Given the description of an element on the screen output the (x, y) to click on. 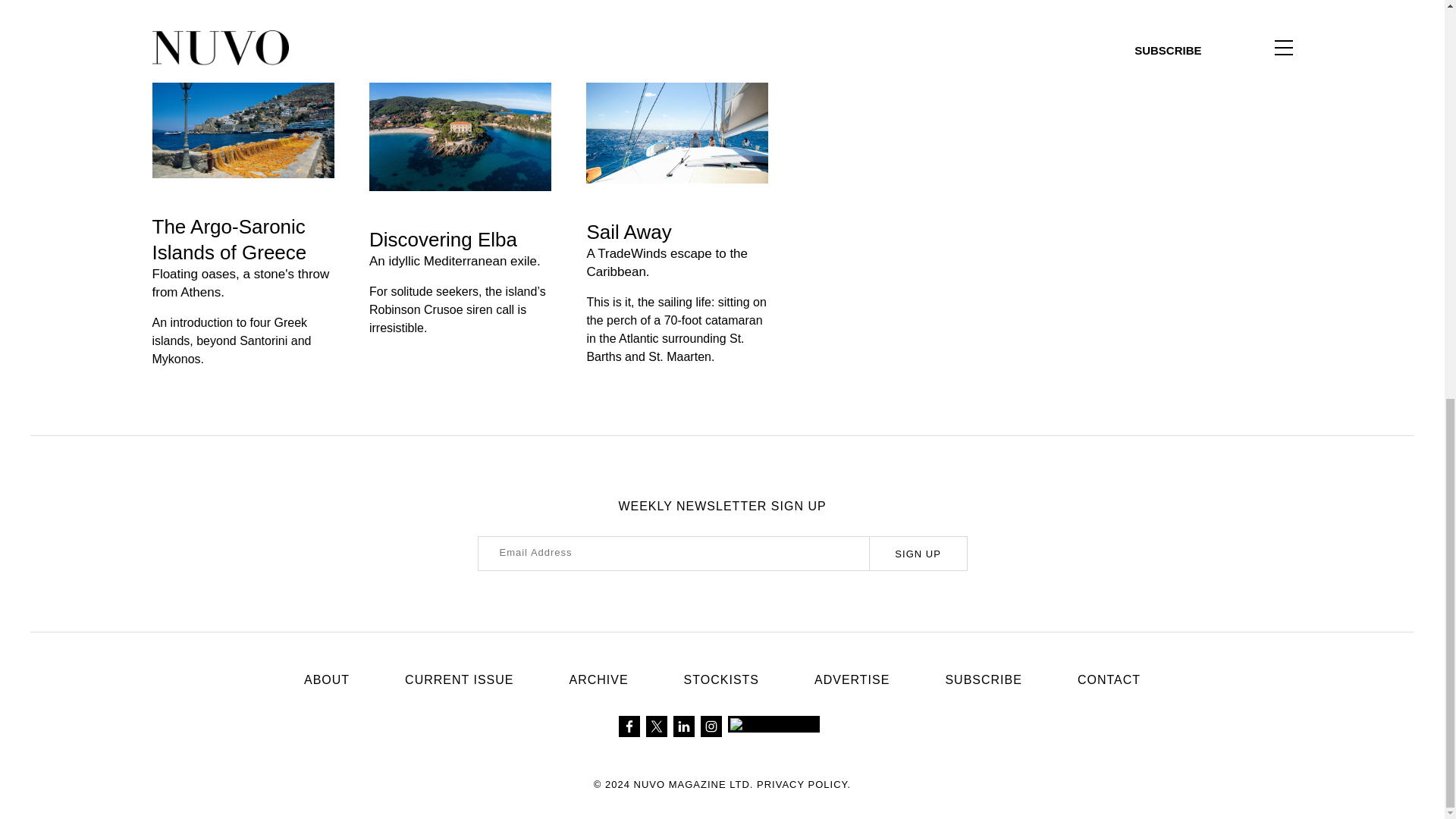
Sign Up (917, 553)
